Given the description of an element on the screen output the (x, y) to click on. 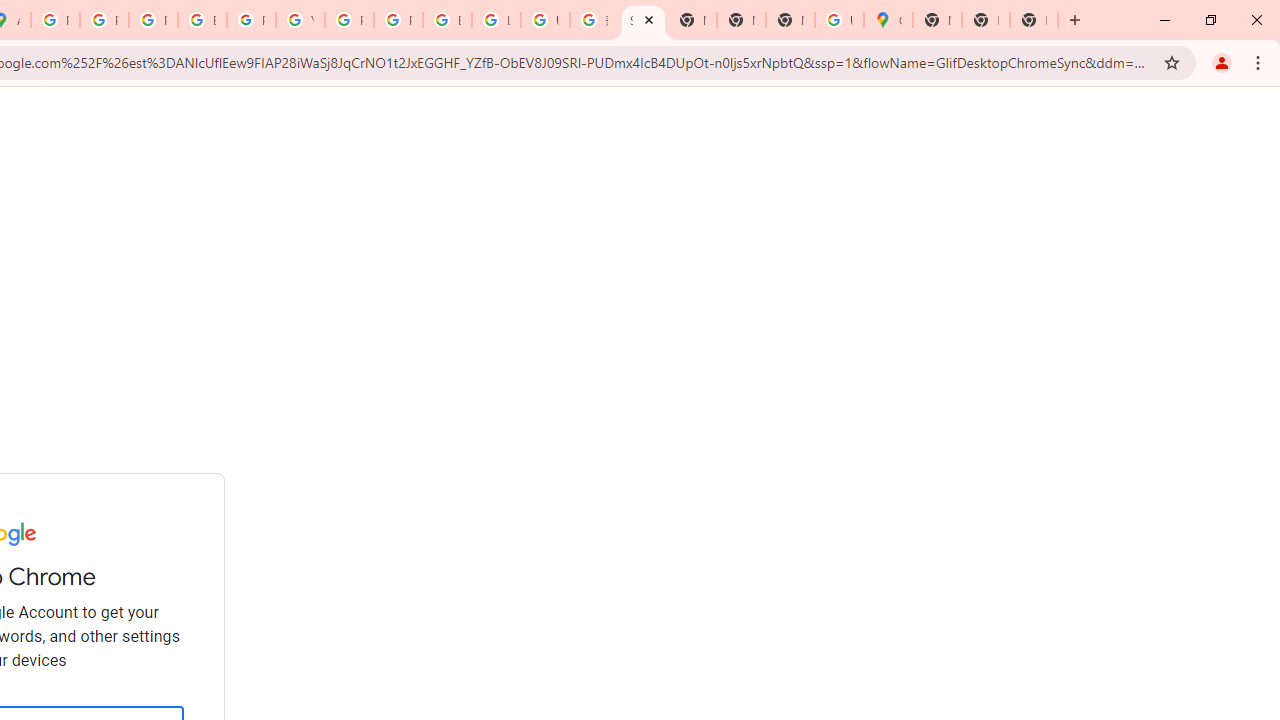
YouTube (300, 20)
New Tab (985, 20)
Sign in - Google Accounts (643, 20)
Use Google Maps in Space - Google Maps Help (839, 20)
